Given the description of an element on the screen output the (x, y) to click on. 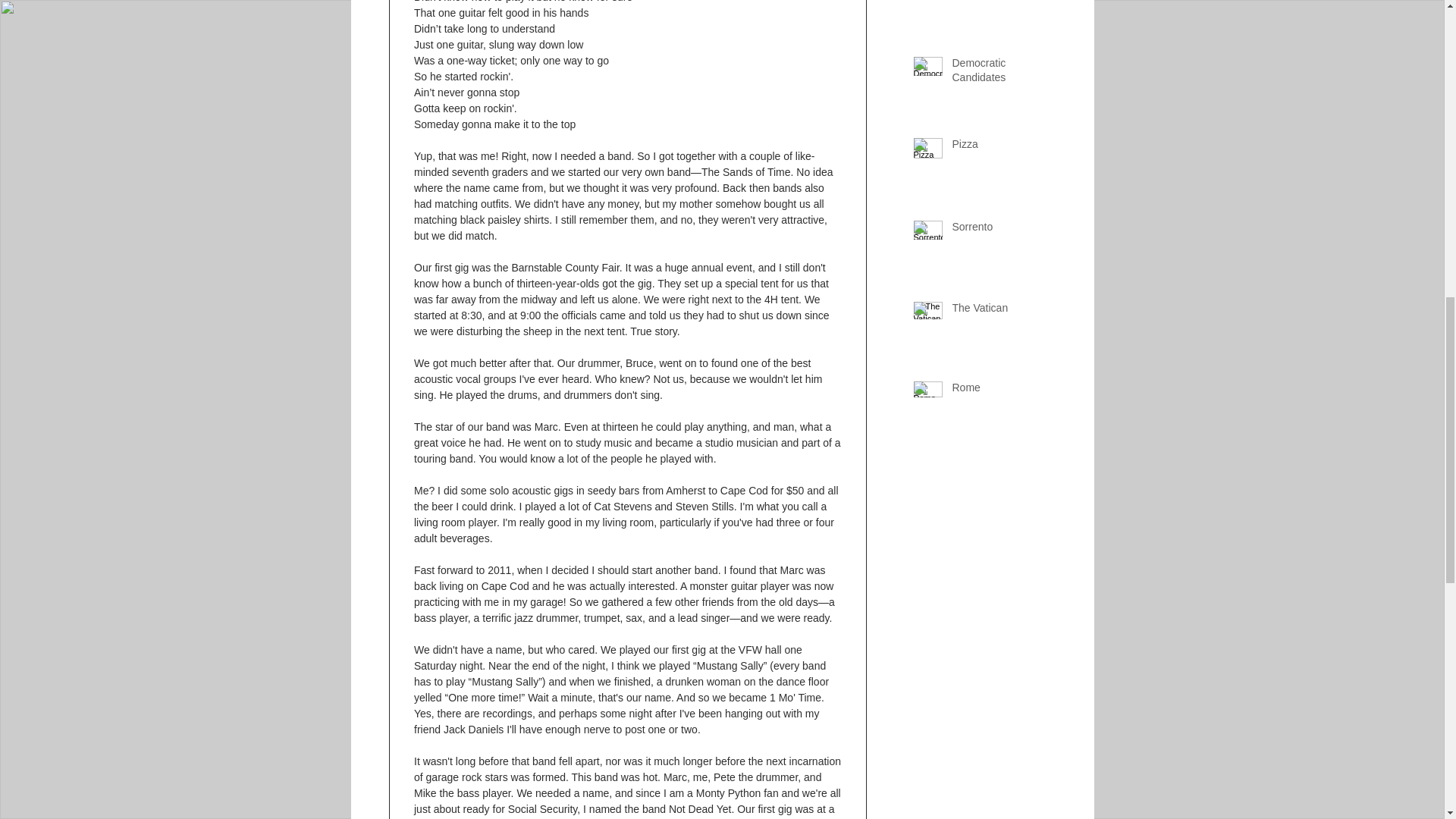
Democratic Candidates (1006, 73)
Sorrento (1006, 230)
Pizza (1006, 147)
Rome (1006, 391)
The Vatican (1006, 311)
